Given the description of an element on the screen output the (x, y) to click on. 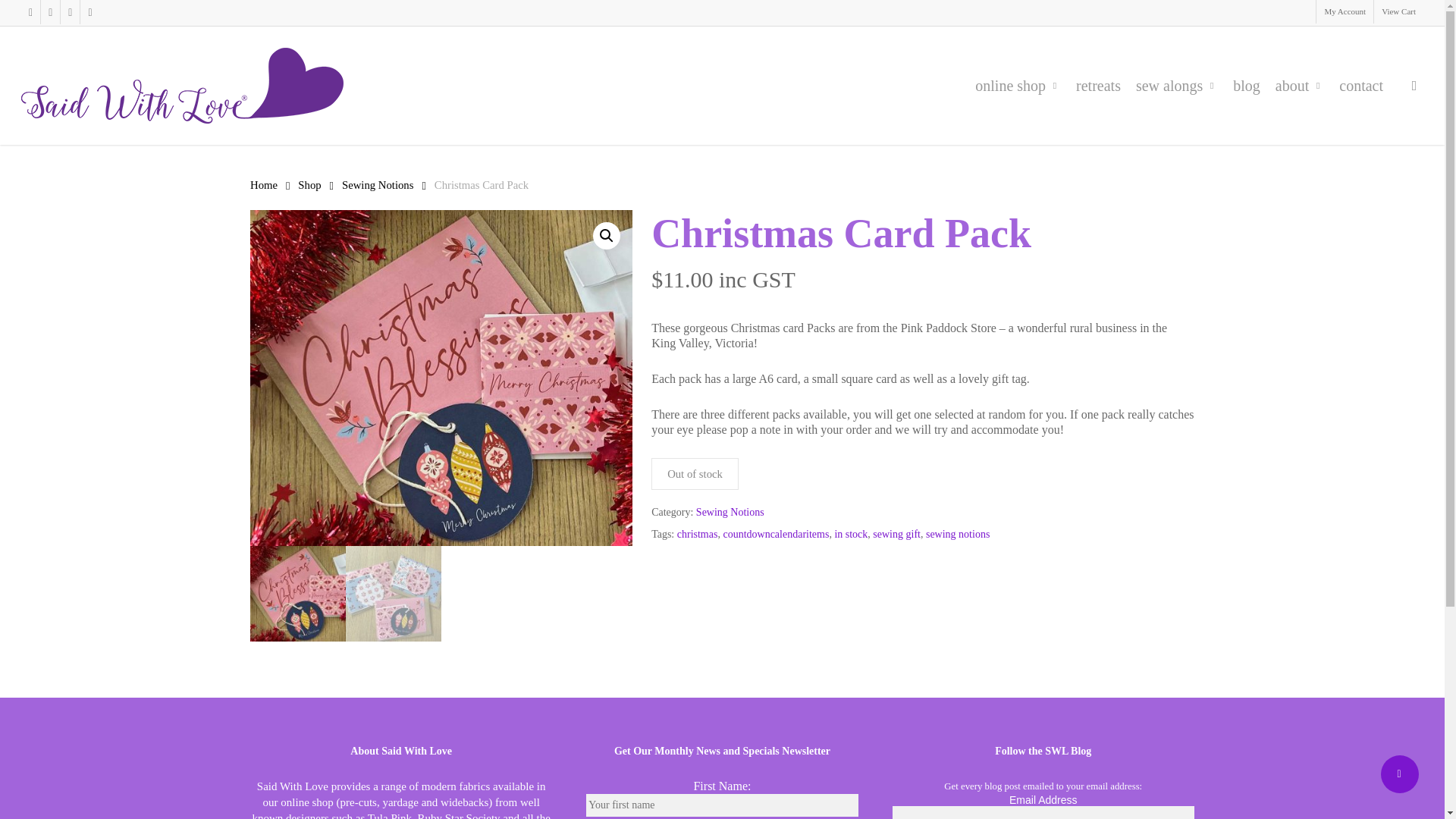
My Account (1344, 11)
christmascardpack (440, 377)
View Cart (1398, 11)
online shop (1018, 85)
